Given the description of an element on the screen output the (x, y) to click on. 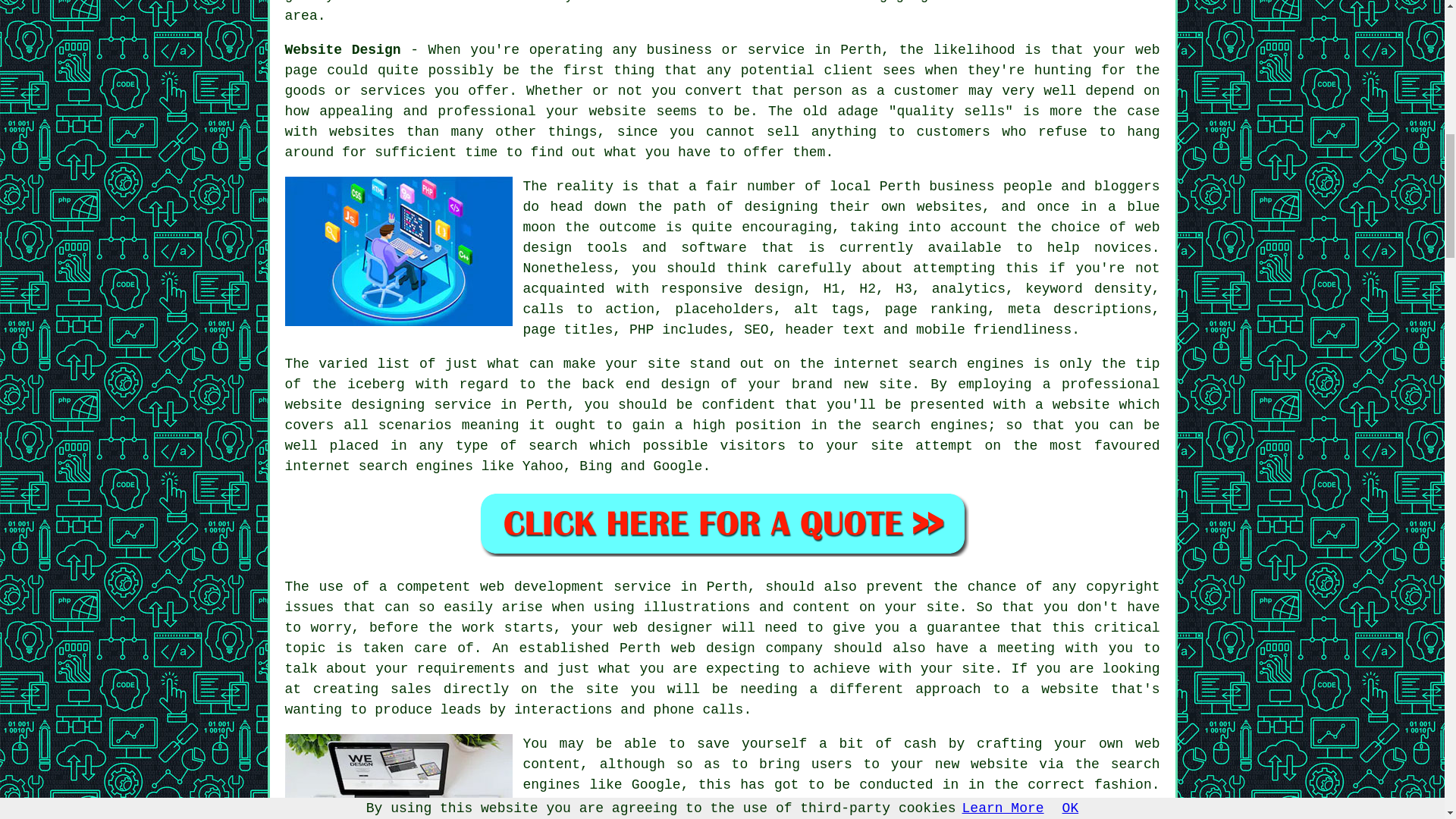
search (553, 445)
have a website (738, 1)
engines (959, 425)
Web Designers in Perth, Scotland - Web Development (398, 776)
